Given the description of an element on the screen output the (x, y) to click on. 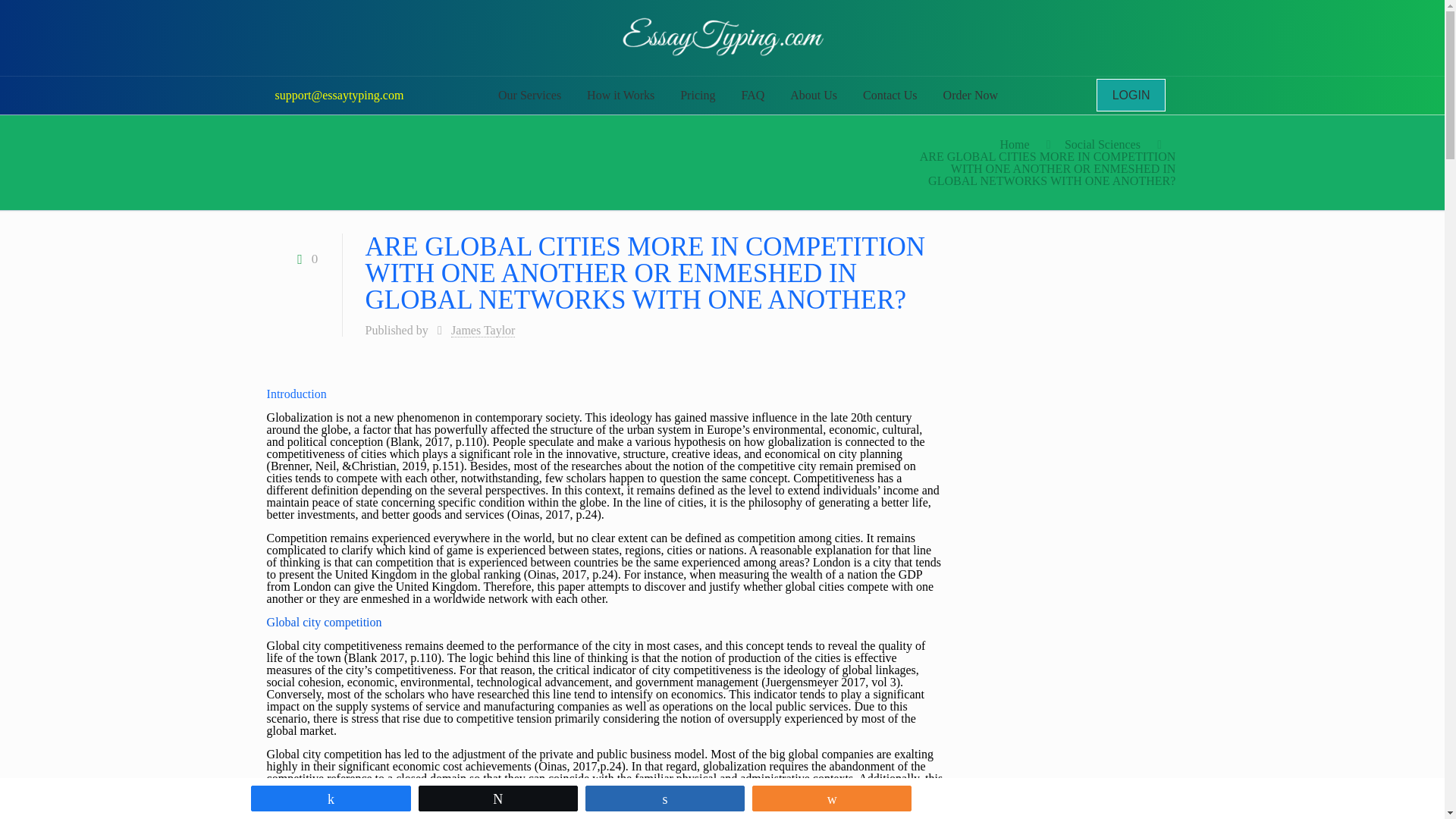
Our Services (528, 95)
FAQ (752, 95)
Pricing (697, 95)
How it Works (619, 95)
Order Now (970, 95)
LOGIN (1131, 94)
Contact Us (890, 95)
About Us (813, 95)
